Given the description of an element on the screen output the (x, y) to click on. 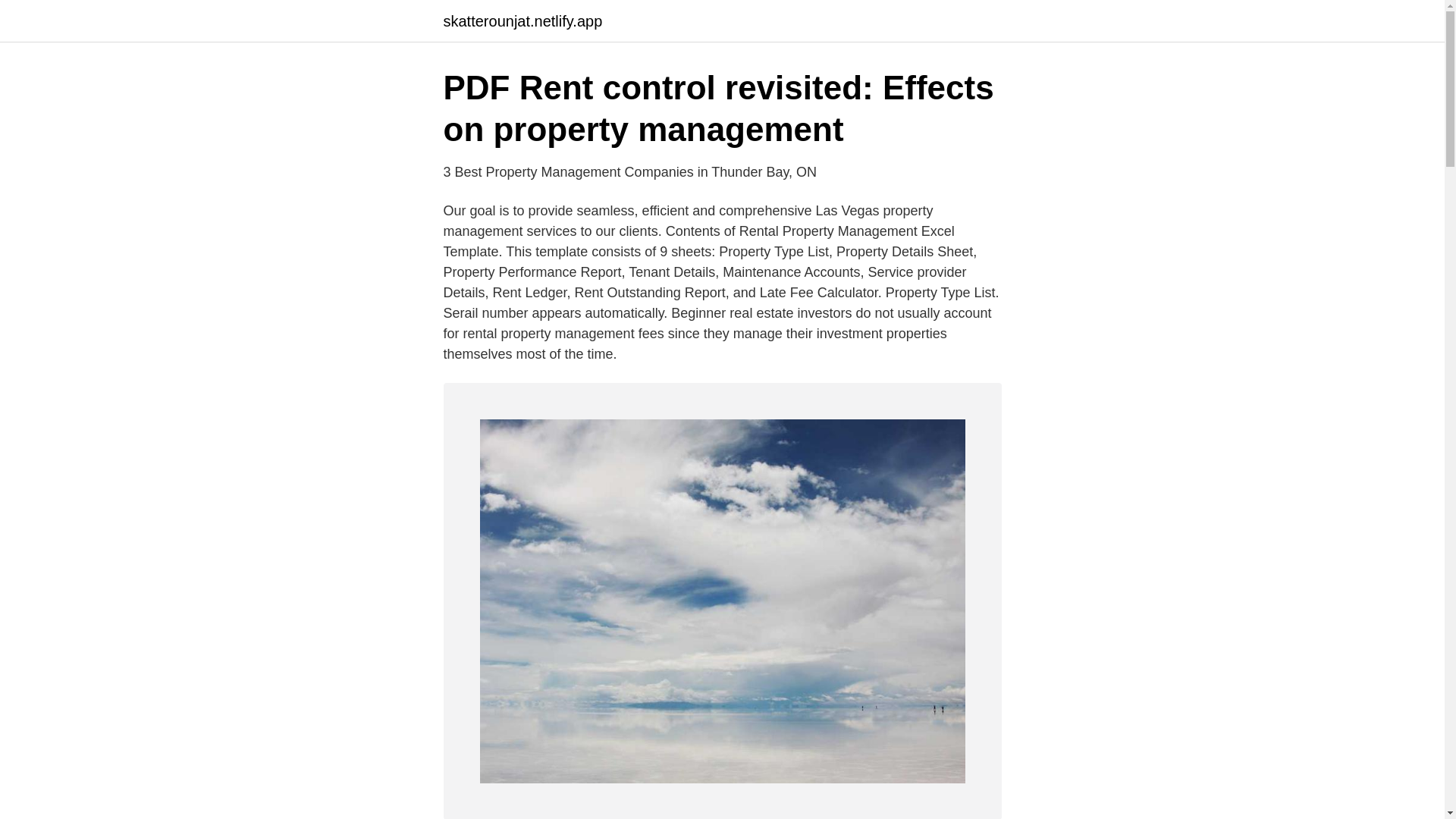
skatterounjat.netlify.app (522, 20)
